Given the description of an element on the screen output the (x, y) to click on. 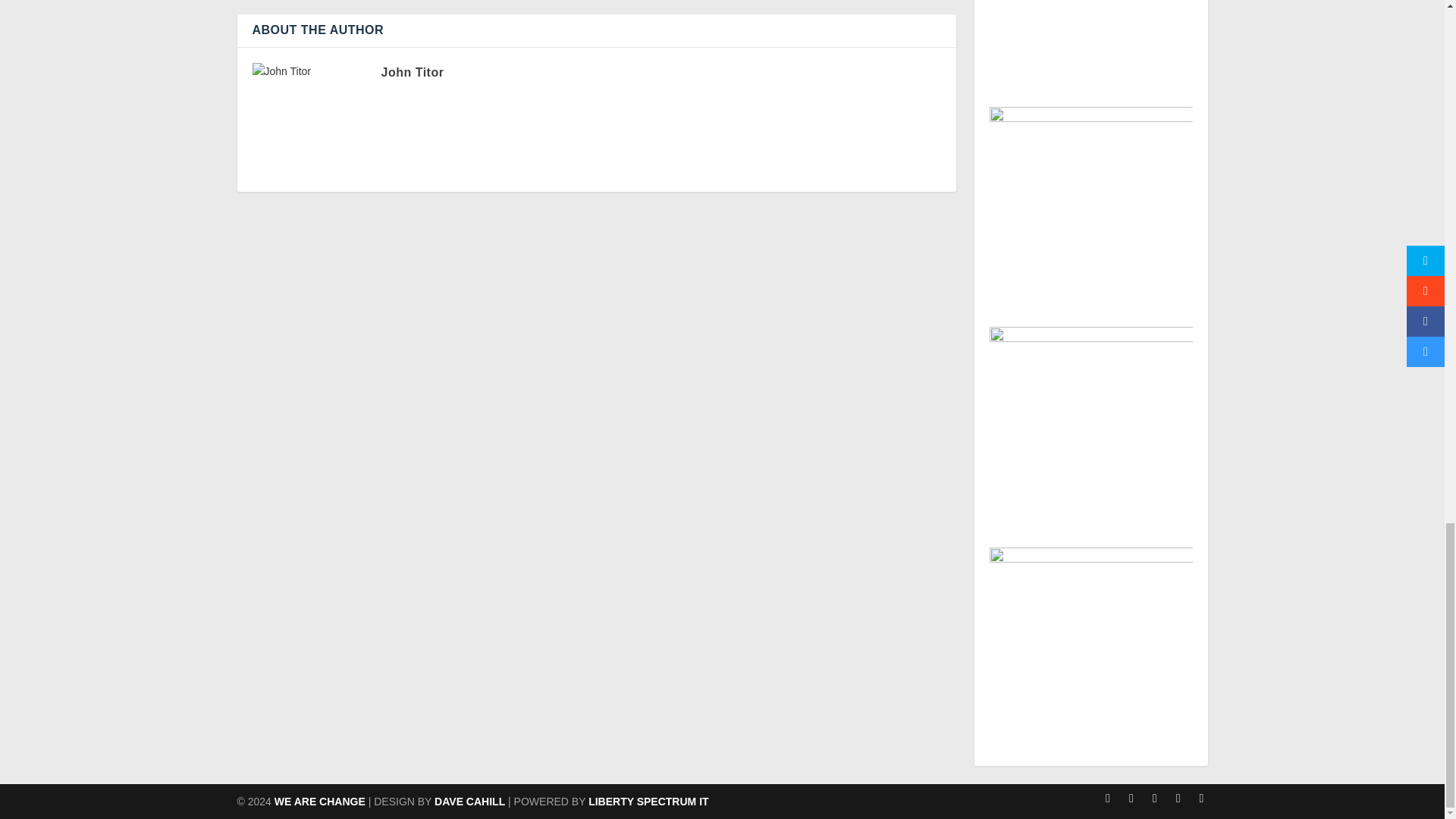
We Are Change (320, 801)
View all posts by John Titor (412, 72)
DivDav (469, 801)
